Given the description of an element on the screen output the (x, y) to click on. 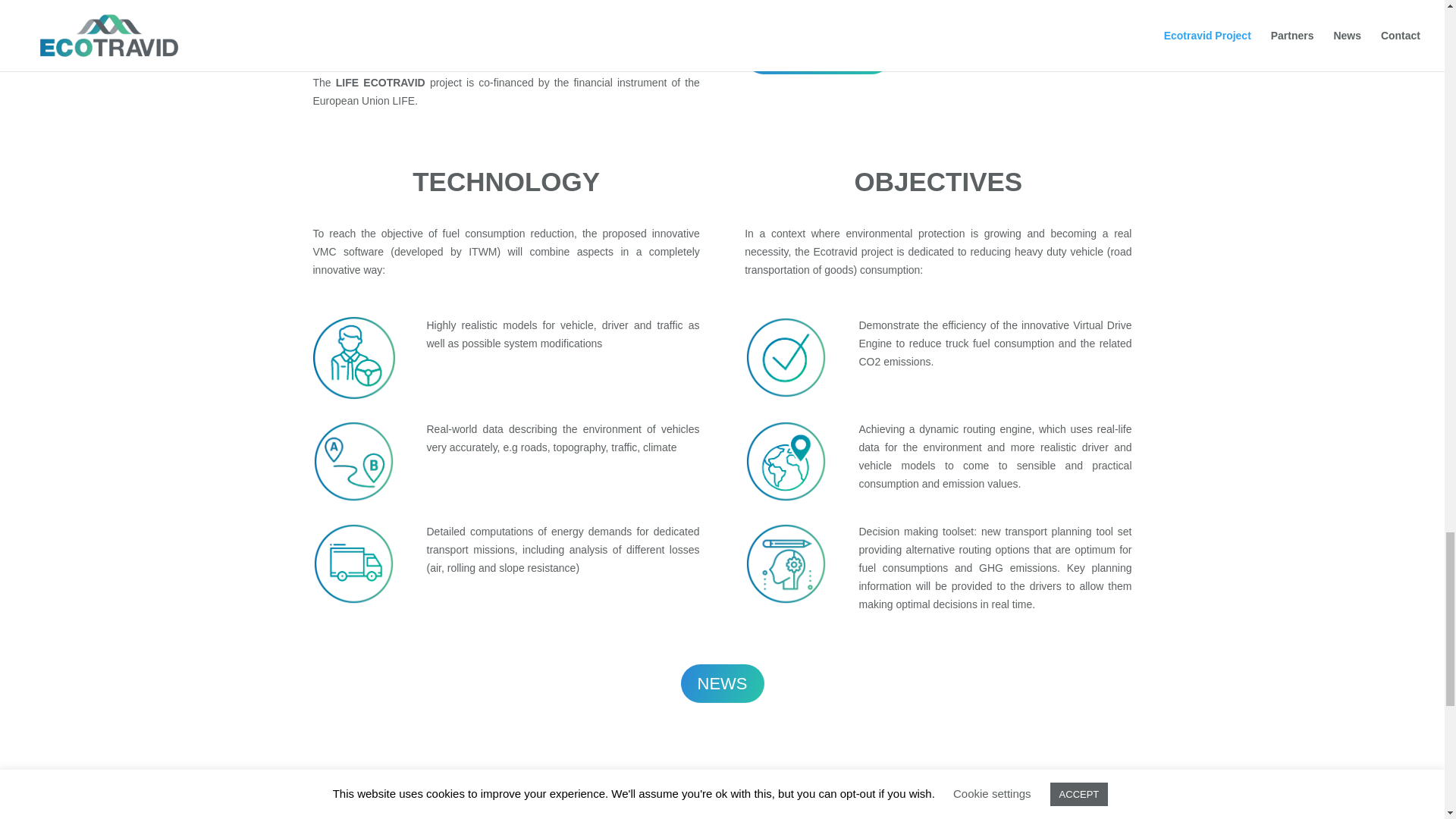
SEE WEBSITE (817, 55)
NEWS (722, 683)
